Given the description of an element on the screen output the (x, y) to click on. 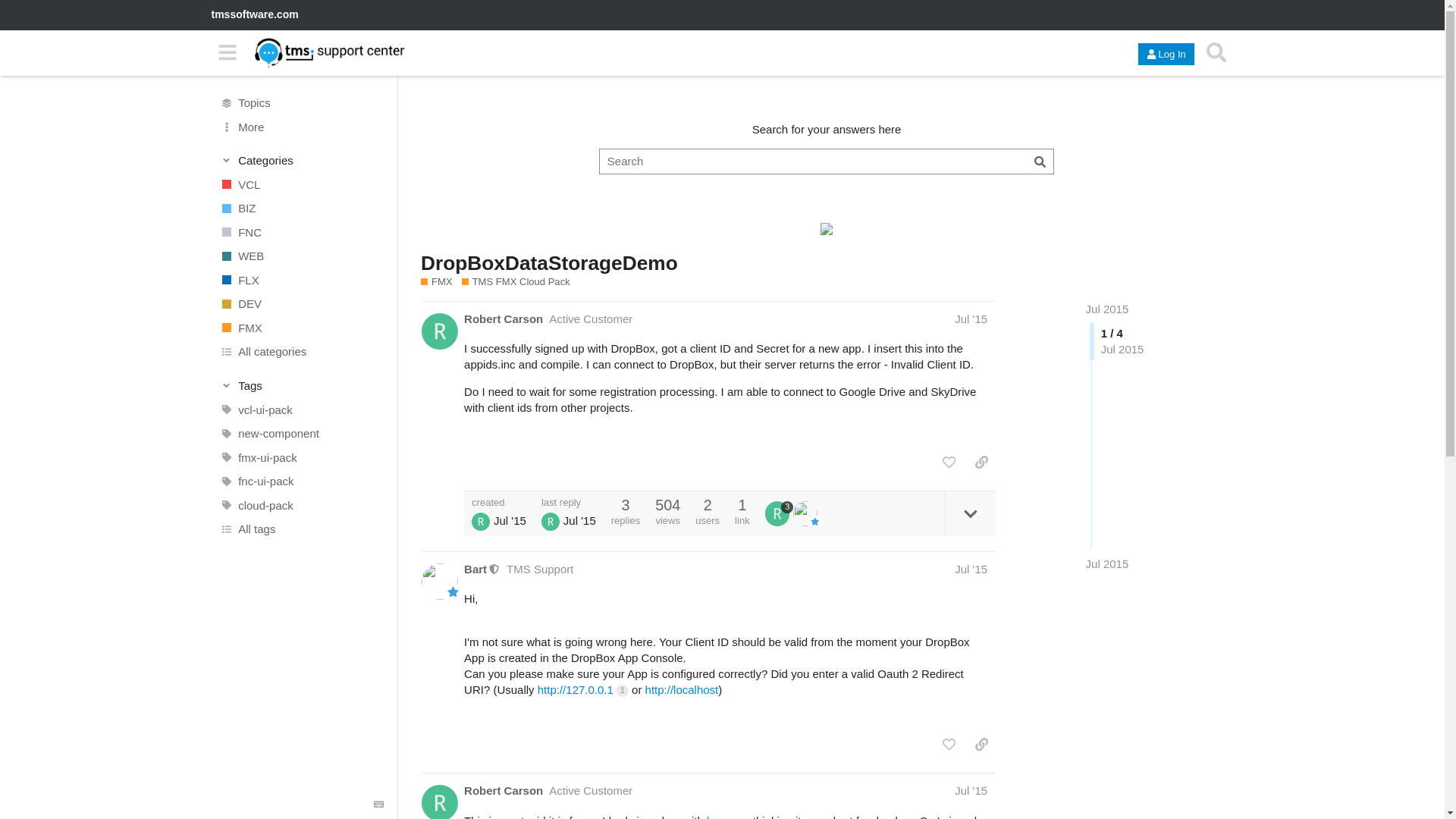
Powerful libraries to build enterprise applications. (301, 208)
Categories (301, 160)
Robert Carson (503, 318)
TMS FMX Cloud Pack (515, 282)
Toggle section (301, 385)
Topics (301, 102)
All topics (301, 102)
Jul 2015 (1107, 308)
BIZ (301, 208)
FNC (301, 232)
